Given the description of an element on the screen output the (x, y) to click on. 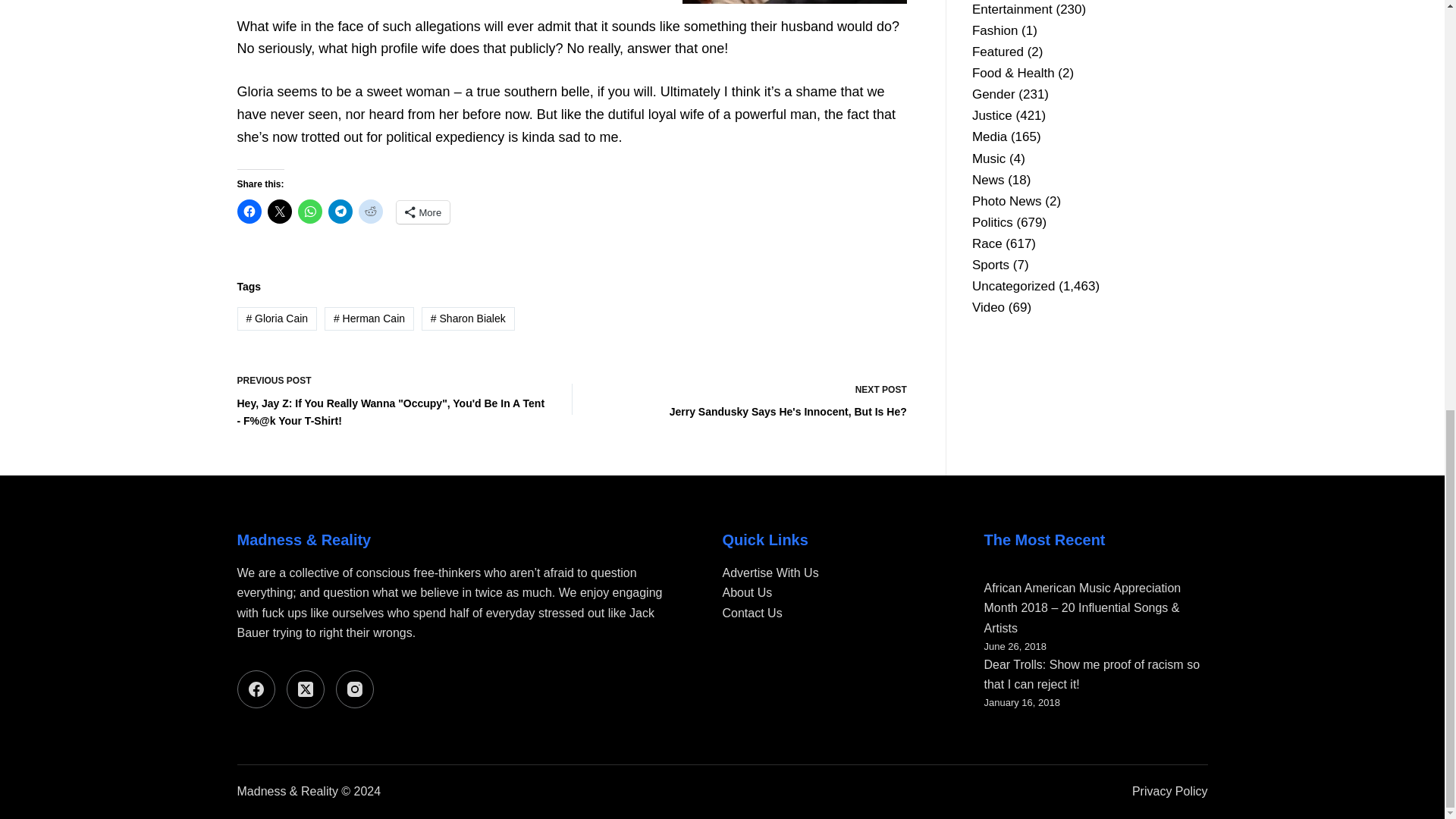
Click to share on WhatsApp (309, 211)
Click to share on Reddit (751, 398)
Click to share on Facebook (369, 211)
Click to share on X (247, 211)
Click to share on Telegram (278, 211)
More (339, 211)
